Given the description of an element on the screen output the (x, y) to click on. 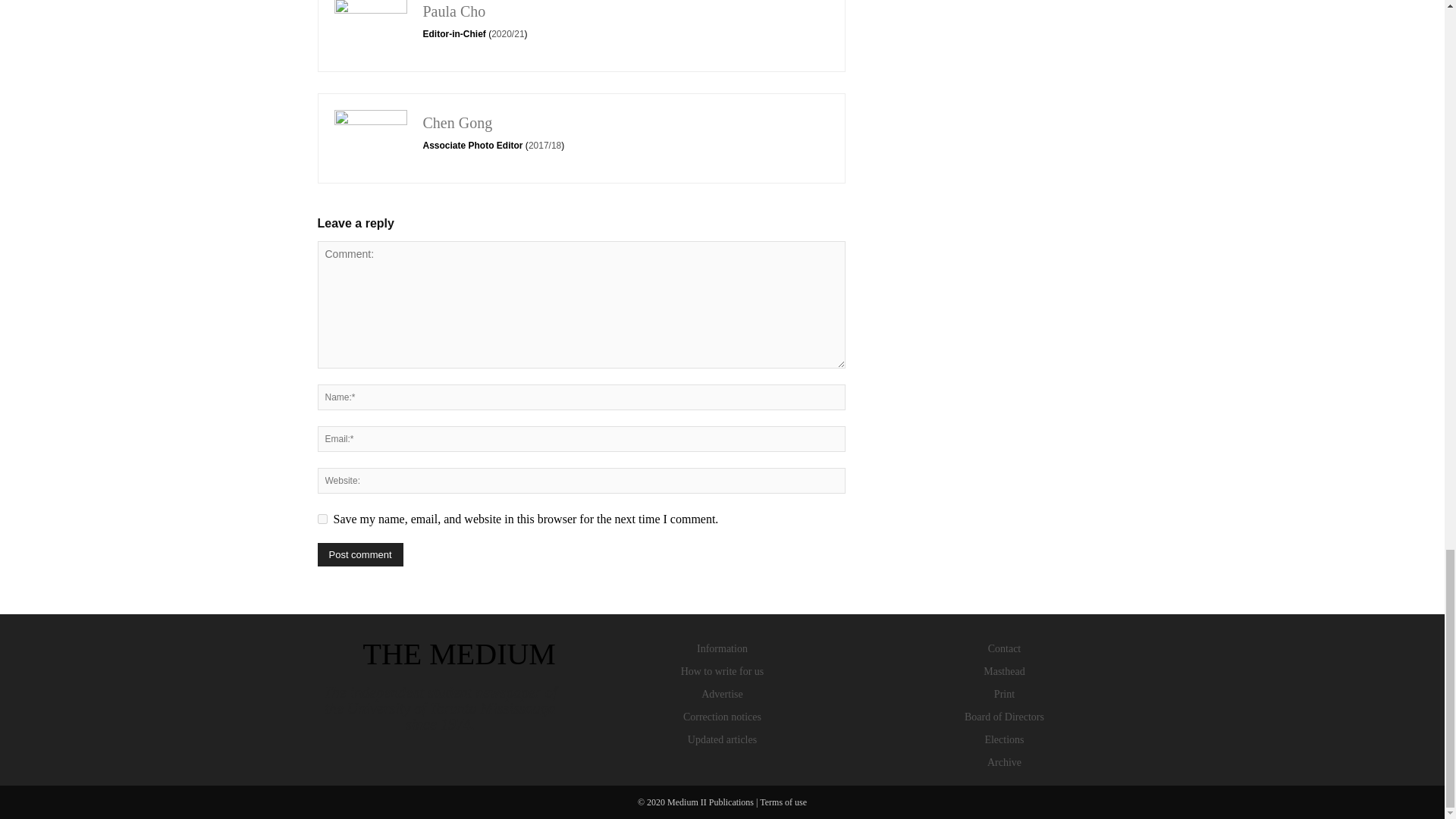
Post comment (360, 554)
yes (321, 519)
